Given the description of an element on the screen output the (x, y) to click on. 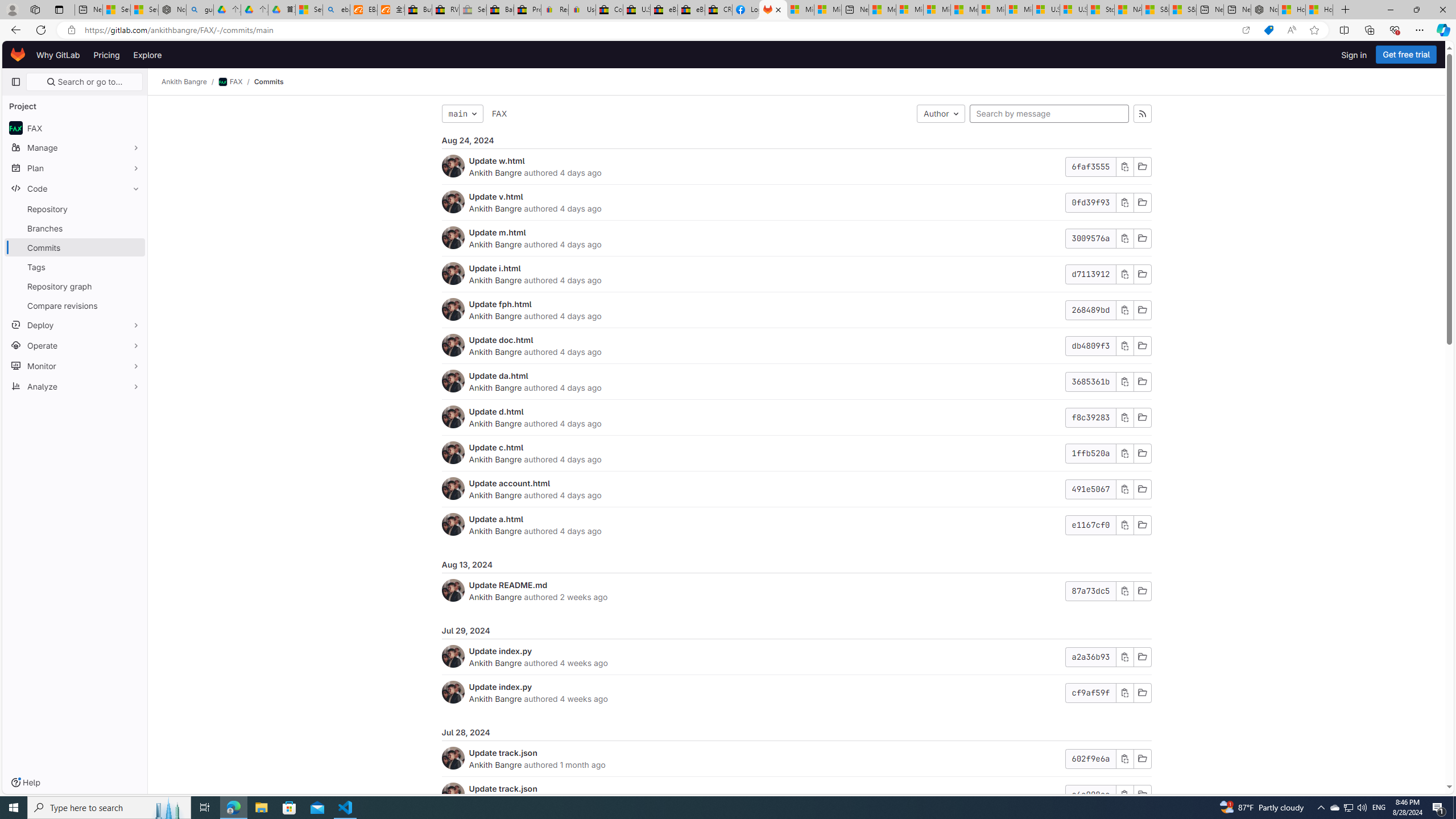
Update i.html (494, 267)
Plan (74, 167)
Register: Create a personal eBay account (554, 9)
Shopping in Microsoft Edge (1268, 29)
Class: s16 gl-icon gl-button-icon  (1124, 794)
Ankith Bangre/ (189, 81)
Update doc.htmlAnkith Bangre authored 4 days agodb4809f3 (796, 345)
Update m.htmlAnkith Bangre authored 4 days ago3009576a (796, 238)
Aug 13, 2024 (796, 564)
Aug 24, 2024 (796, 140)
avatar (15, 128)
